Given the description of an element on the screen output the (x, y) to click on. 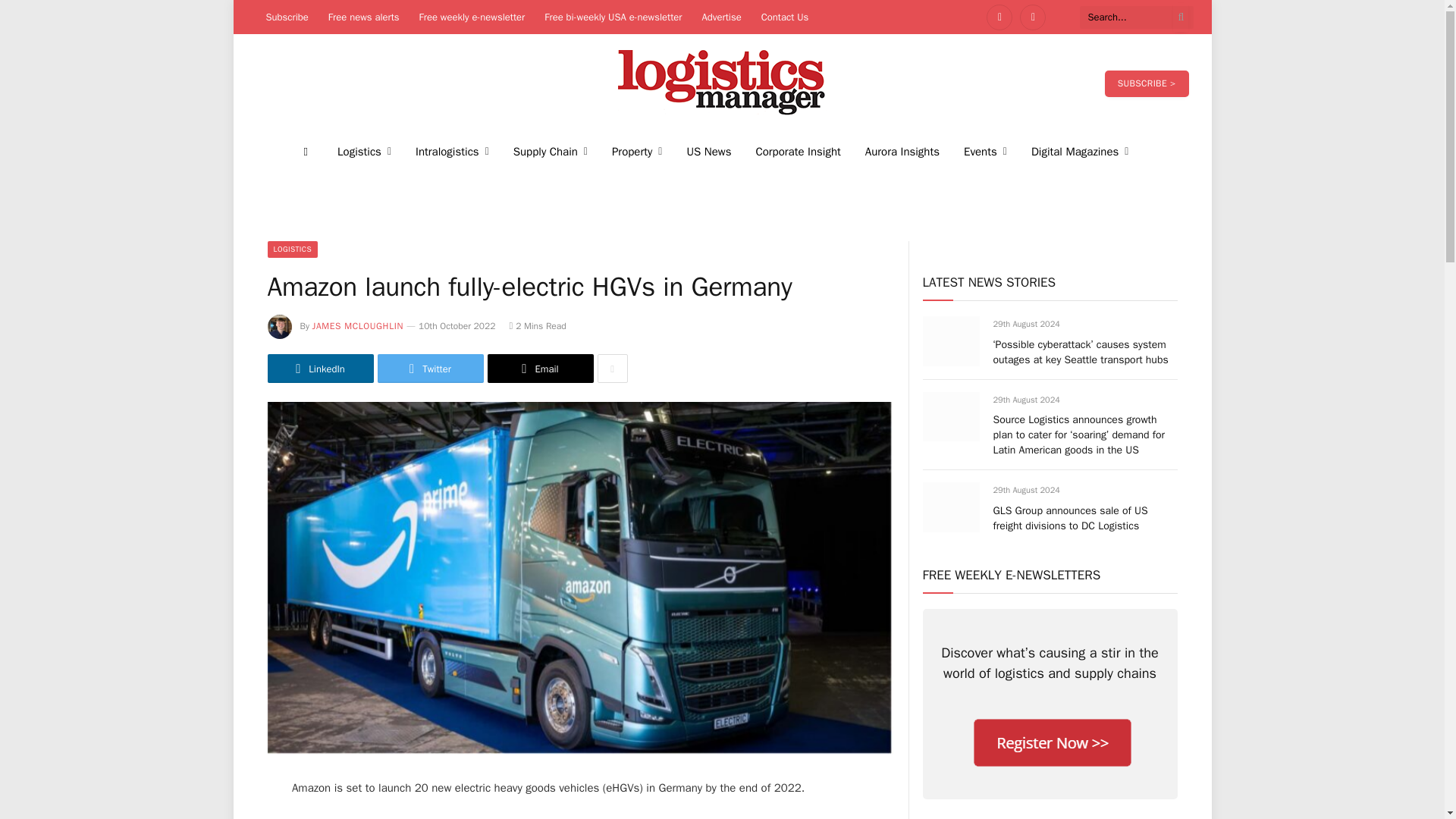
Posts by James McLoughlin (358, 326)
Show More Social Sharing (611, 368)
Share on LinkedIn (319, 368)
Logistics Manager (722, 83)
Share via Email (539, 368)
